Given the description of an element on the screen output the (x, y) to click on. 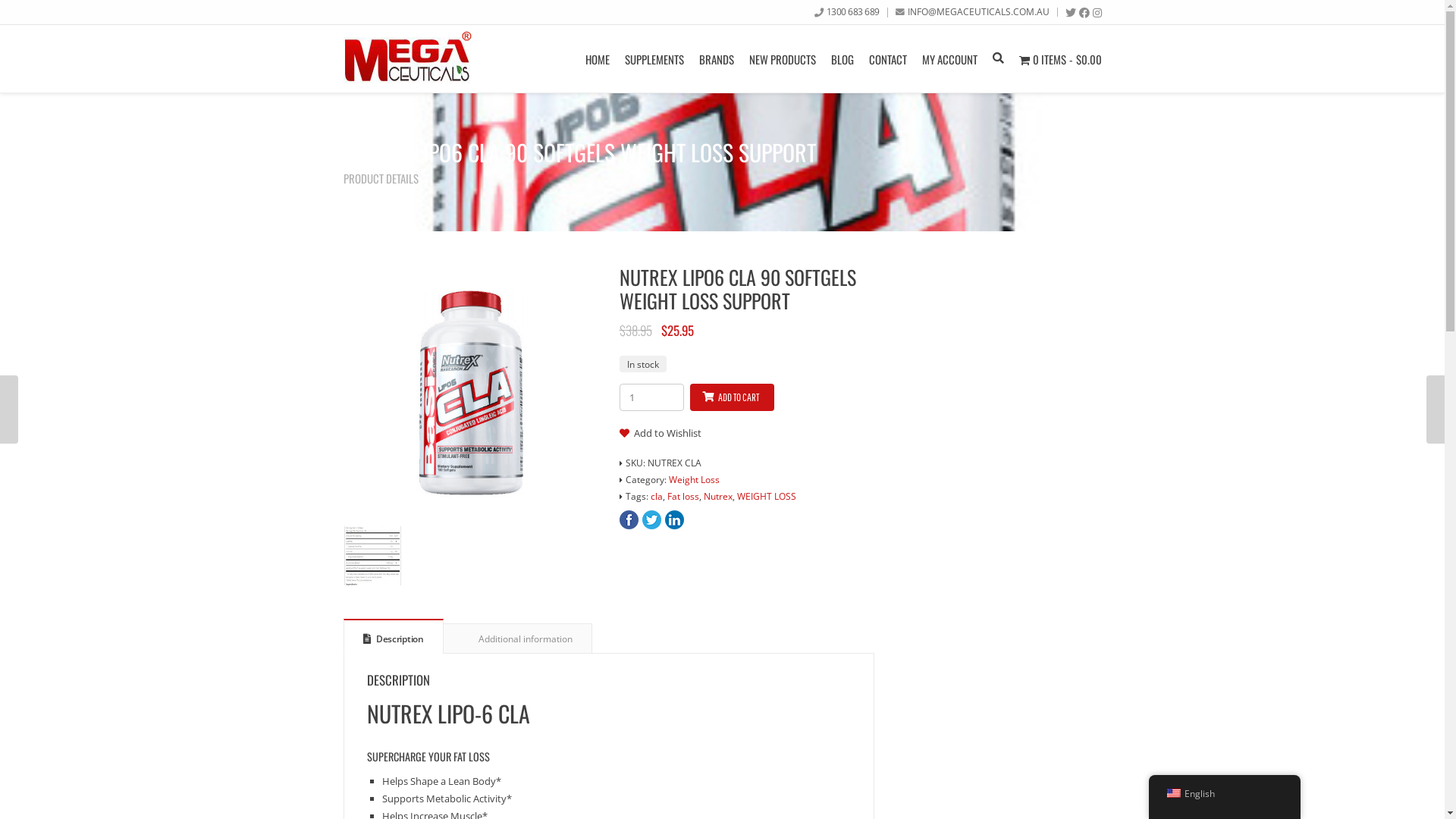
SUPPLEMENTS Element type: text (654, 59)
English Element type: text (1223, 792)
INFO@MEGACEUTICALS.COM.AU Element type: text (977, 11)
Nutrex Element type: text (717, 495)
Nutrex Lipo-6 CLA Element type: hover (469, 392)
HOME Element type: text (597, 59)
ADD TO CART Element type: text (732, 397)
Instagram Element type: hover (1096, 12)
English Element type: hover (1172, 792)
Twitter Element type: hover (1069, 12)
Weight Loss Element type: text (693, 479)
Additional information Element type: text (517, 638)
CONTACT Element type: text (887, 59)
Fat loss Element type: text (683, 495)
Facebook Element type: text (627, 519)
Nutrex Lipo-6 CLA fact Element type: hover (371, 555)
MY ACCOUNT Element type: text (949, 59)
Qty Element type: hover (650, 397)
Facebook Element type: hover (1083, 12)
BRANDS Element type: text (716, 59)
1300 683 689 Element type: text (852, 11)
0 ITEMS$0.00 Element type: text (1059, 59)
NEW PRODUCTS Element type: text (782, 59)
BLOG Element type: text (842, 59)
Twitter Element type: text (650, 519)
cla Element type: text (656, 495)
Add to Wishlist Element type: text (659, 432)
WEIGHT LOSS Element type: text (766, 495)
LinkedIn Element type: text (673, 519)
Description Element type: text (393, 636)
